Given the description of an element on the screen output the (x, y) to click on. 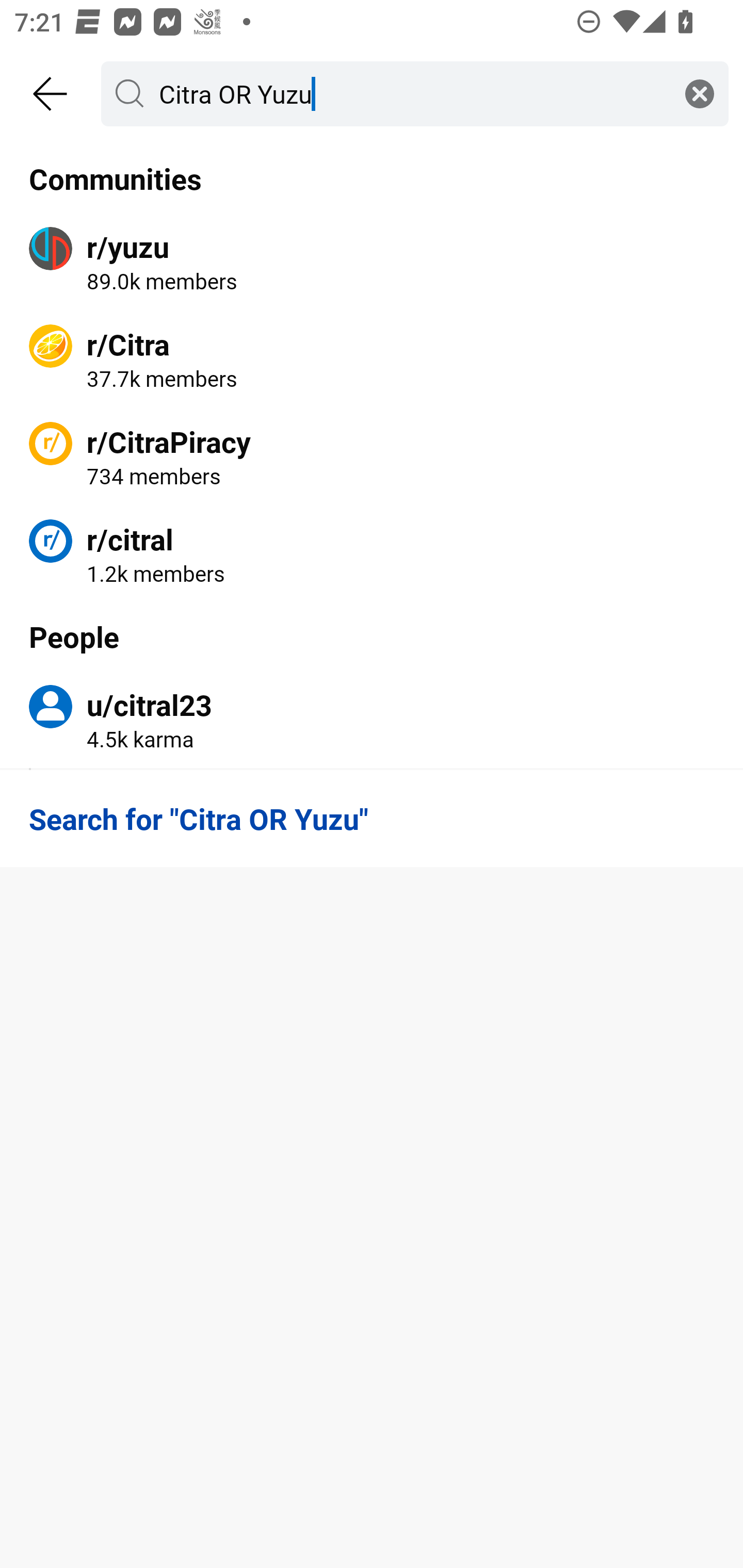
Back (50, 93)
Citra OR Yuzu (410, 93)
Clear search (699, 93)
r/yuzu 89.0k members 89.0 thousand members (371, 261)
r/Citra 37.7k members 37.7 thousand members (371, 358)
r/CitraPiracy 734 members 734 members (371, 455)
r/citral 1.2k members 1.2 thousand members (371, 553)
u/citral23 4.5k karma 4.5 thousand karma (371, 719)
Search for "Citra OR Yuzu" (371, 818)
